Given the description of an element on the screen output the (x, y) to click on. 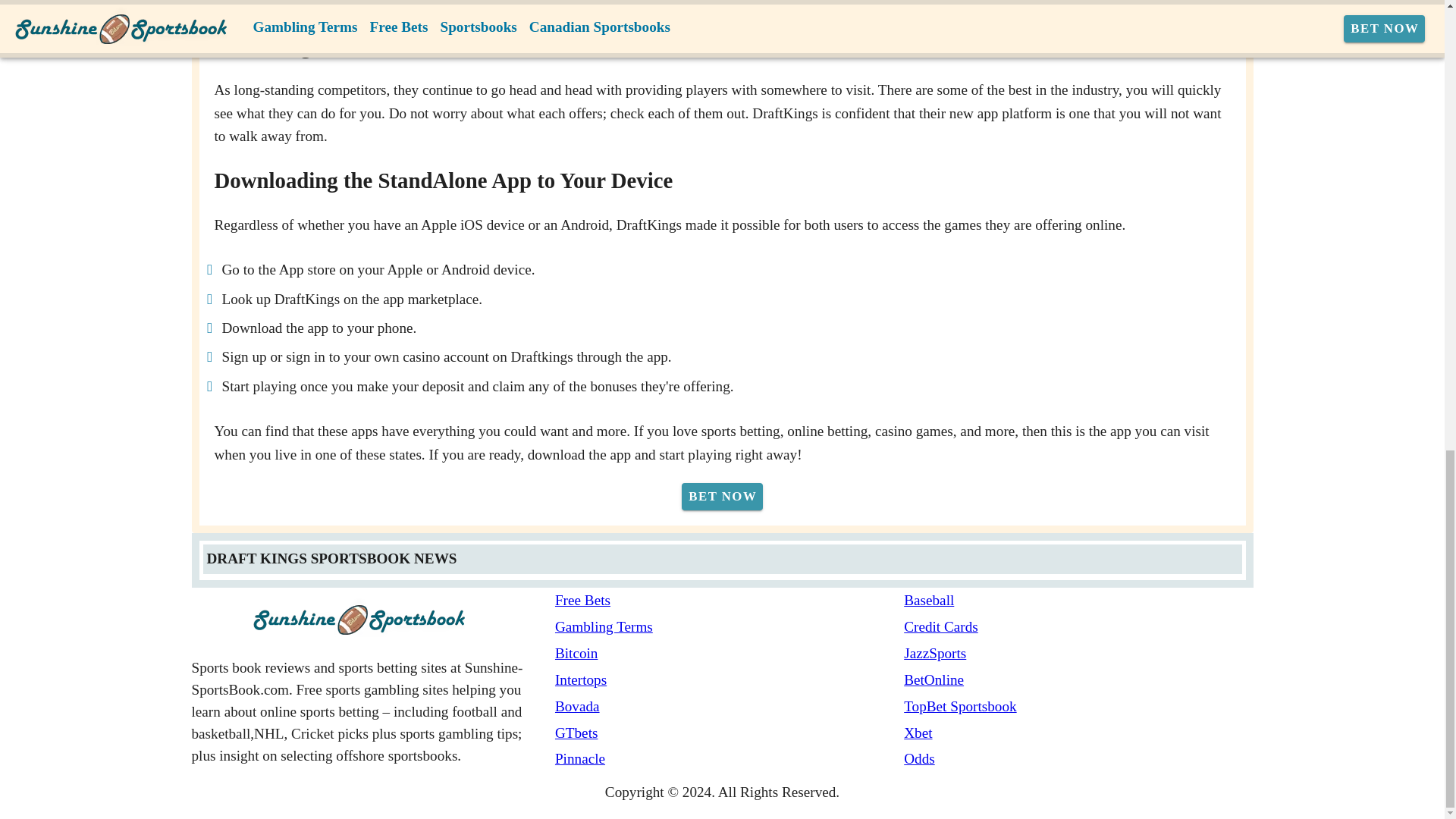
BetOnline (1078, 680)
BET NOW (721, 496)
JazzSports (1078, 653)
Odds (1078, 759)
Credit Cards (1078, 627)
GTbets (729, 733)
Baseball (1078, 600)
Bitcoin (729, 653)
Gambling Terms (729, 627)
Free Bets (729, 600)
Bovada (729, 707)
Xbet (1078, 733)
TopBet Sportsbook (1078, 707)
Intertops (729, 680)
Pinnacle (729, 759)
